Given the description of an element on the screen output the (x, y) to click on. 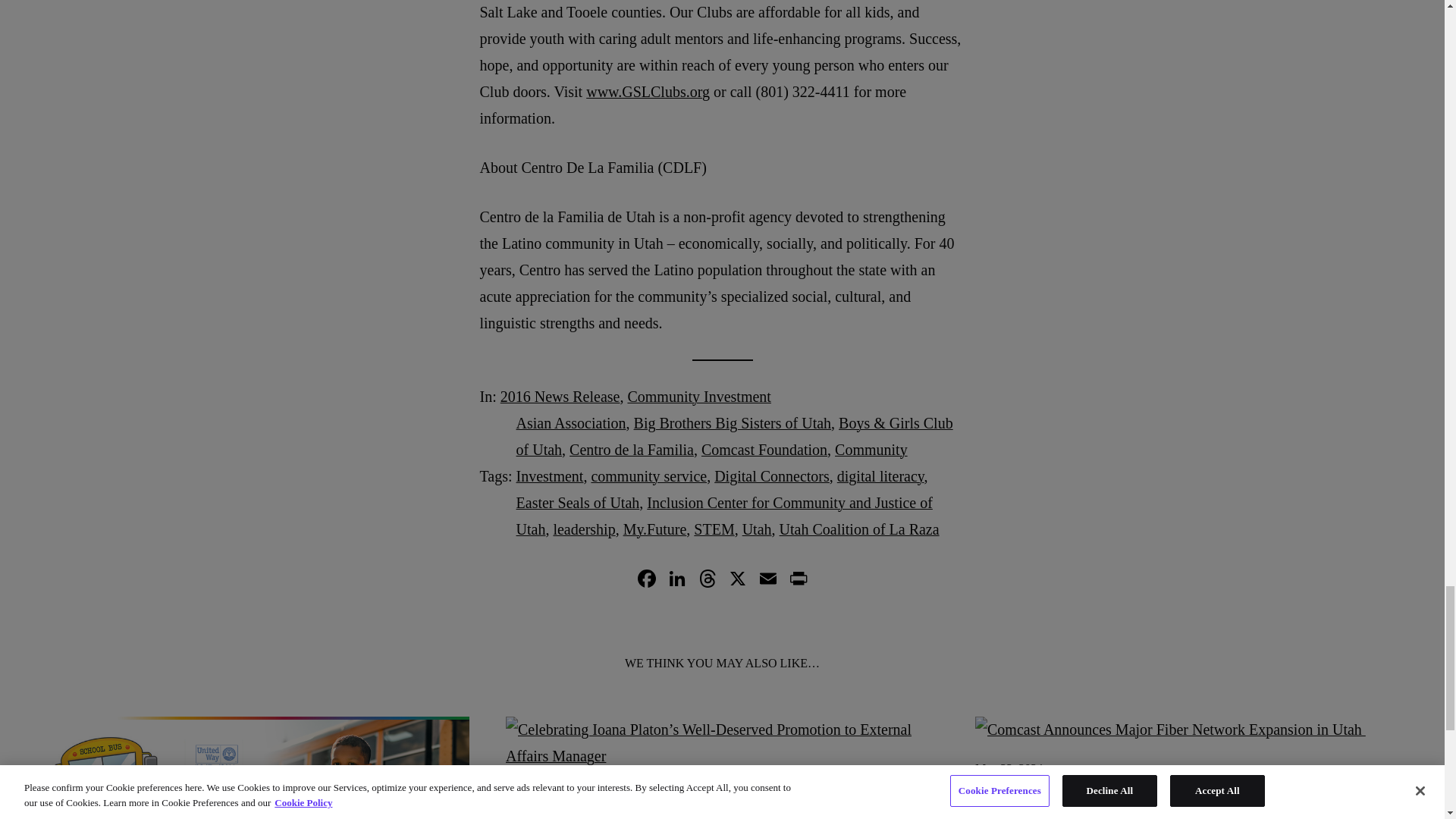
Email (767, 580)
Digital Connectors (771, 475)
community service (648, 475)
X (737, 580)
Asian Association (571, 422)
Community Investment (711, 462)
PrintFriendly (797, 580)
Big Brothers Big Sisters of Utah (732, 422)
leadership (583, 528)
Easter Seals of Utah (578, 502)
STEM (713, 528)
Facebook (645, 580)
LinkedIn (676, 580)
www.GSLClubs.org (648, 91)
Utah (756, 528)
